Given the description of an element on the screen output the (x, y) to click on. 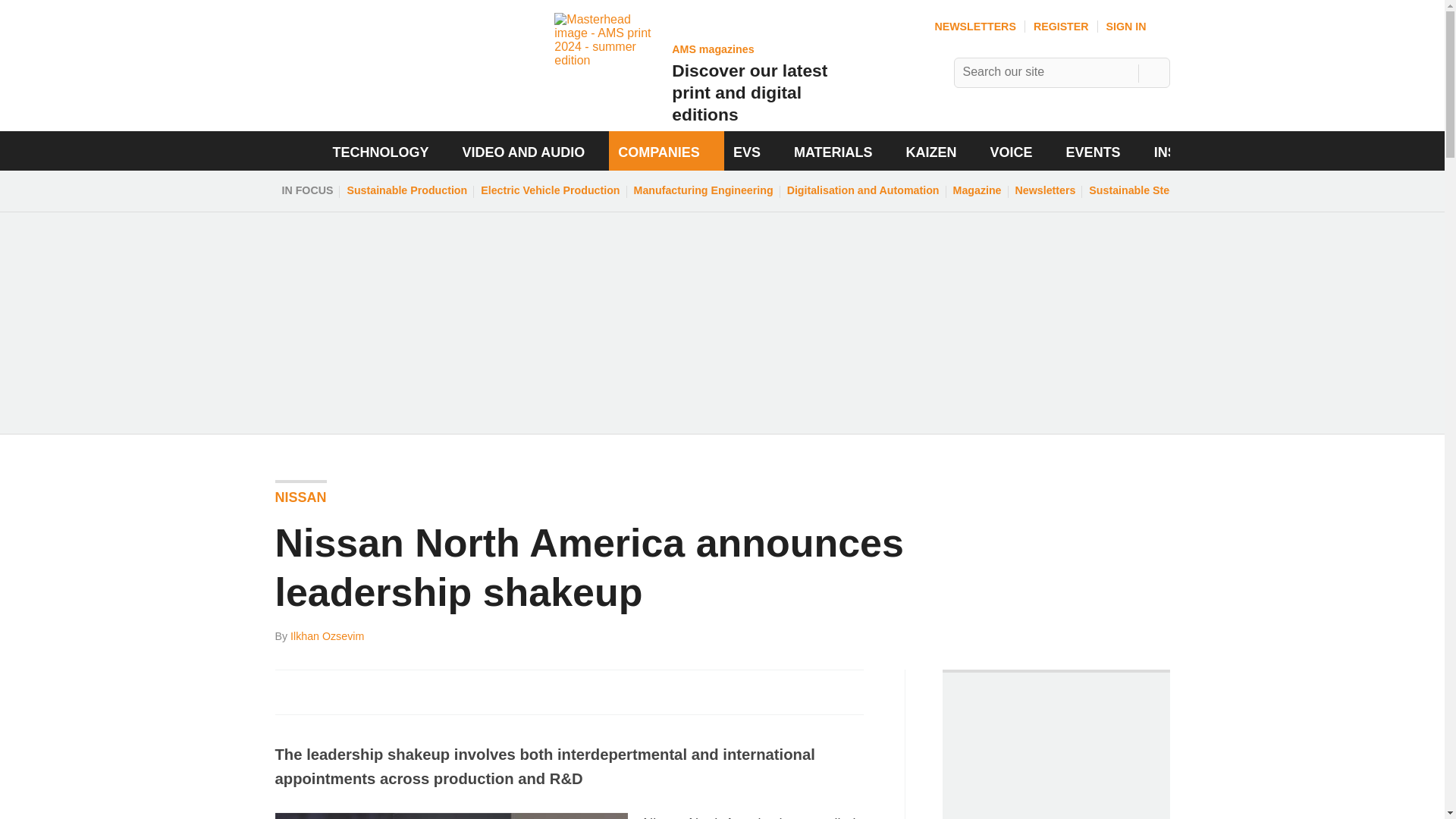
Email this article (386, 691)
Share this on Twitter (690, 71)
REGISTER (320, 691)
SIGN IN (1061, 26)
Magazine (1138, 26)
No comments (977, 190)
Sustainable Steel Survey (840, 700)
NEWSLETTERS (1152, 190)
Manufacturing Engineering (974, 26)
